Given the description of an element on the screen output the (x, y) to click on. 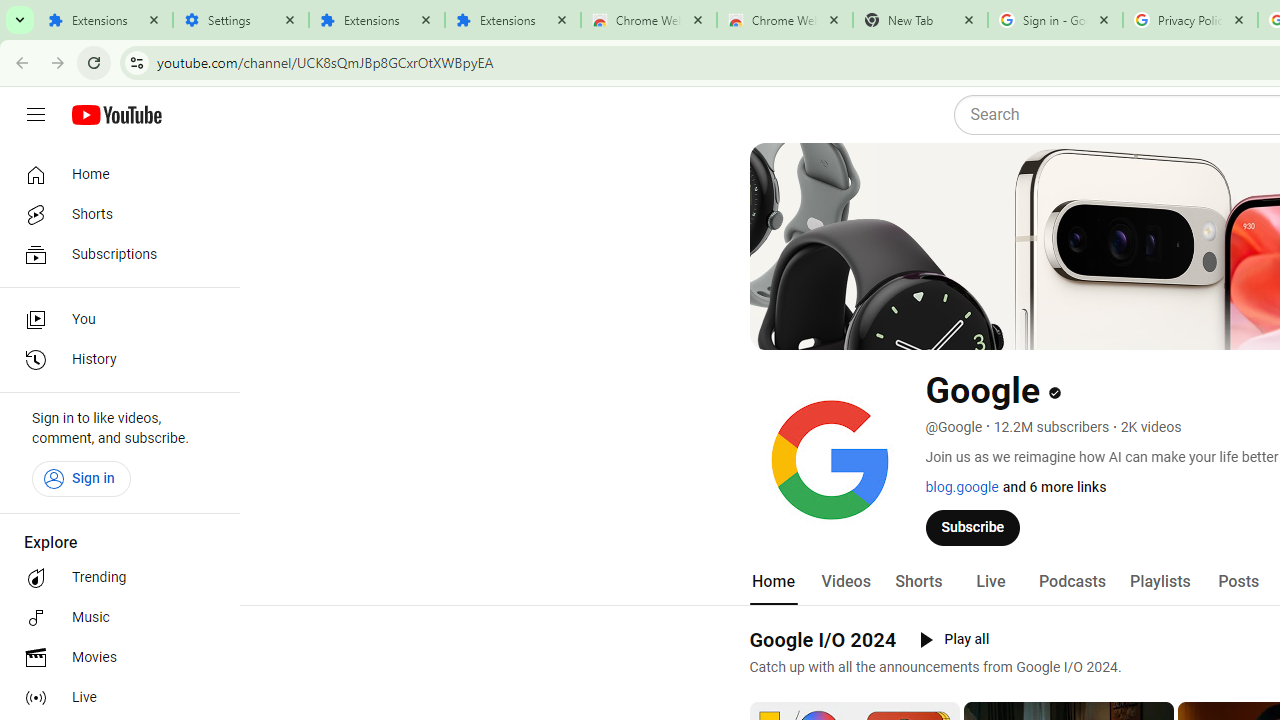
Podcasts (1072, 581)
Settings (240, 20)
Chrome Web Store (648, 20)
Posts (1238, 581)
Chrome Web Store - Themes (784, 20)
Live (113, 697)
Sign in - Google Accounts (1055, 20)
Subscriptions (113, 254)
